Given the description of an element on the screen output the (x, y) to click on. 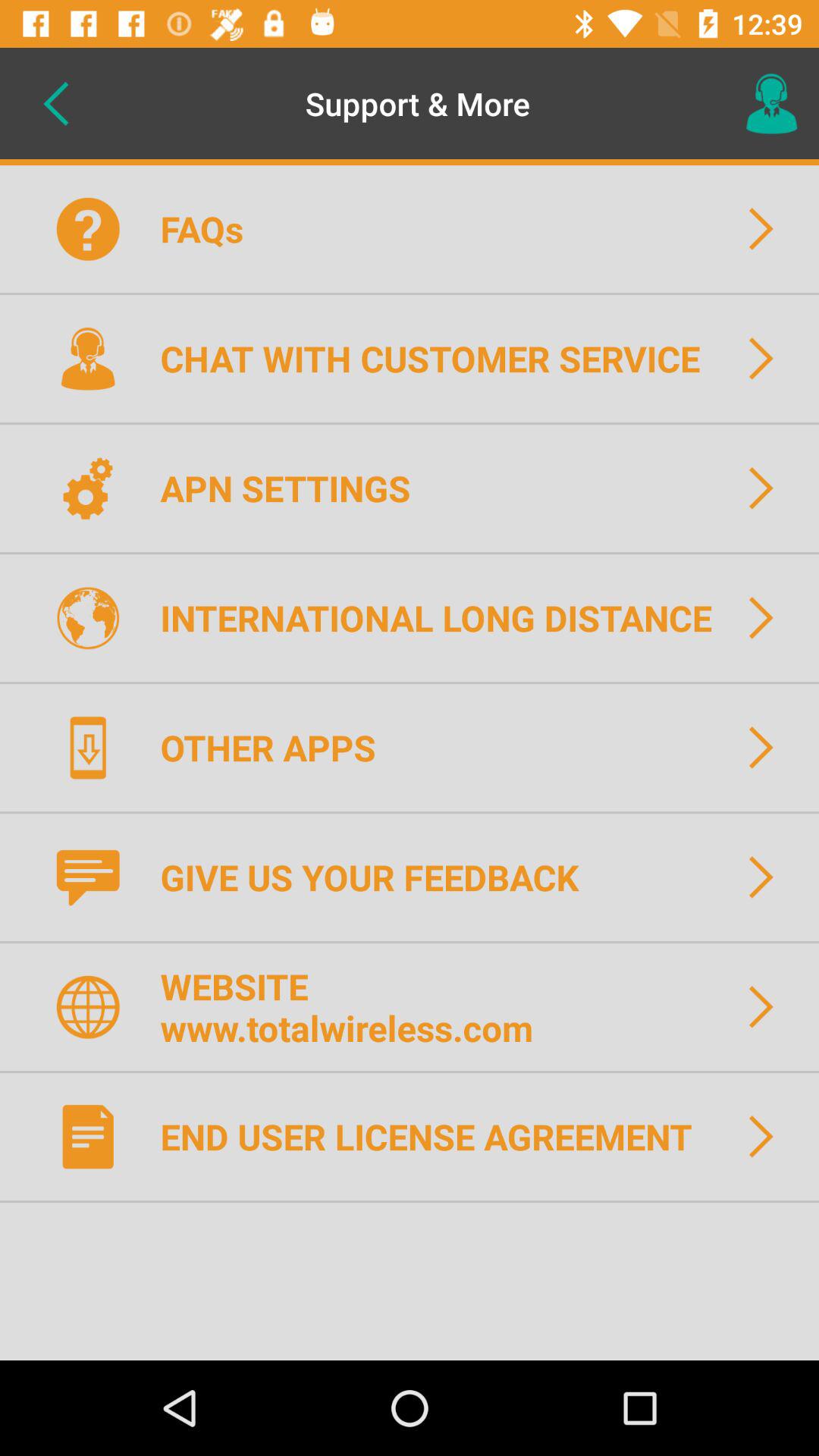
launch international long distance (445, 617)
